Given the description of an element on the screen output the (x, y) to click on. 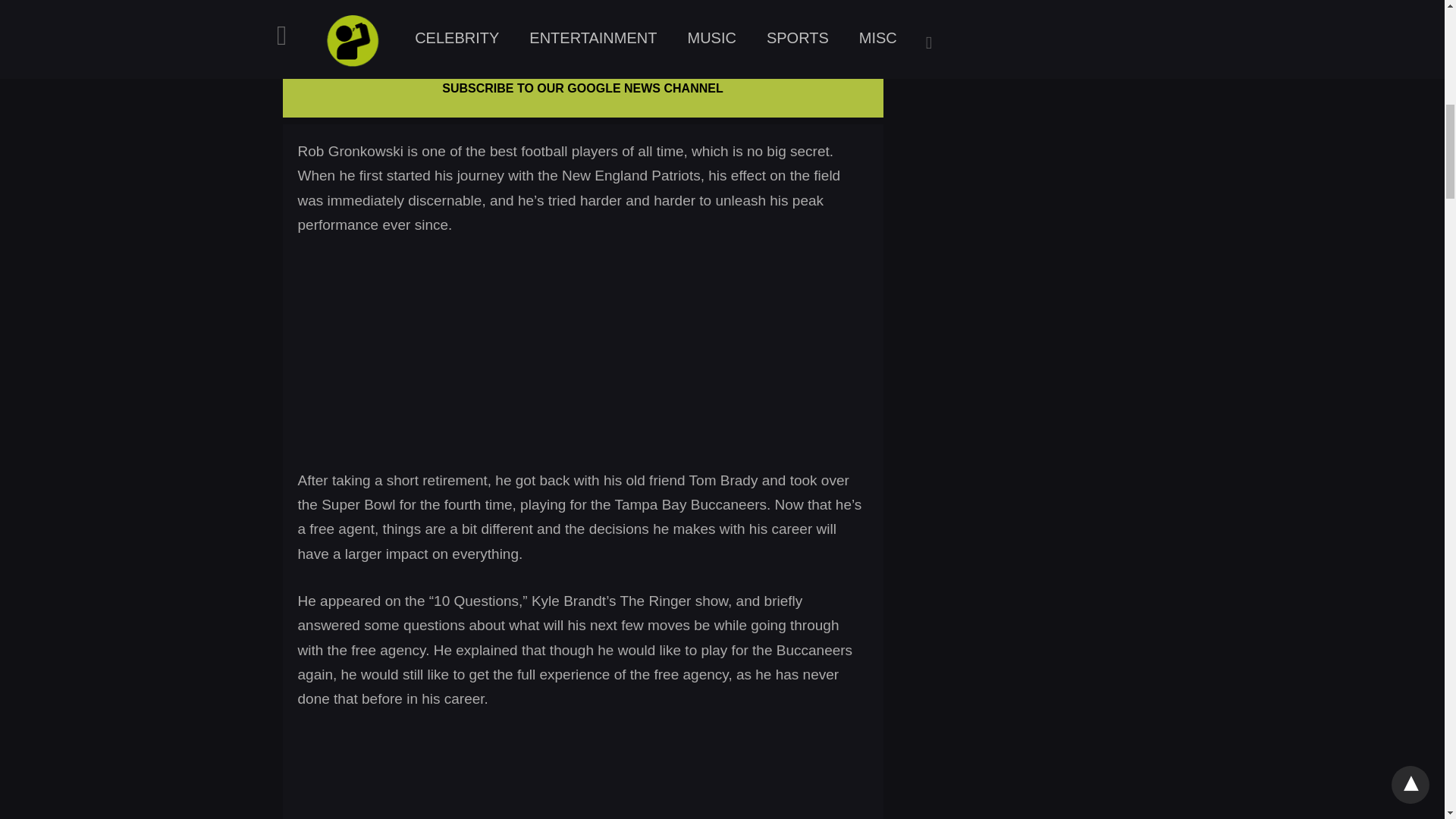
SUBSCRIBE TO OUR GOOGLE NEWS CHANNEL (582, 88)
